Given the description of an element on the screen output the (x, y) to click on. 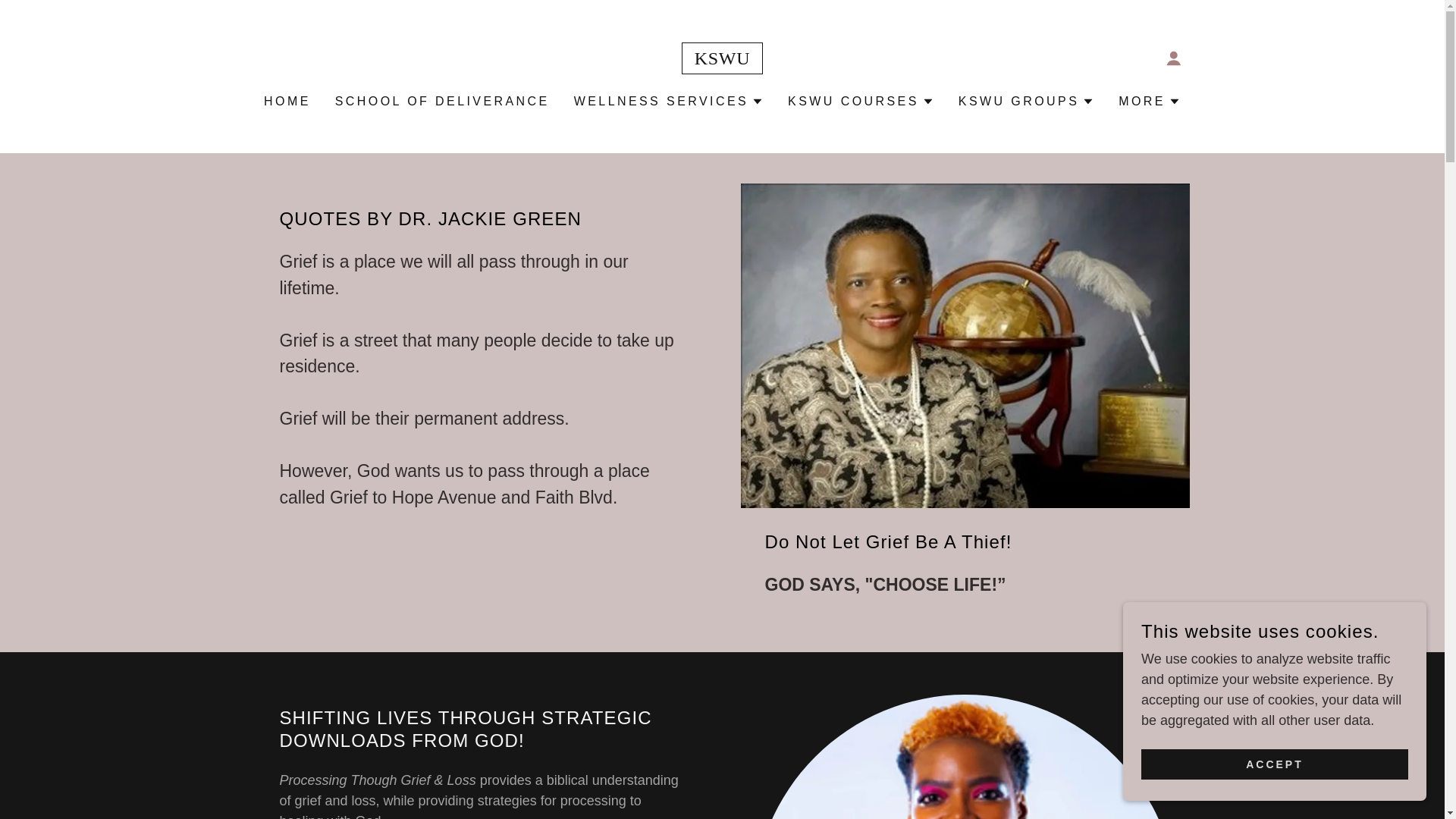
KSWU (721, 59)
KSWU COURSES (860, 101)
KSWU (721, 59)
KSWU GROUPS (1026, 101)
HOME (287, 101)
SCHOOL OF DELIVERANCE (442, 101)
WELLNESS SERVICES (667, 101)
